Given the description of an element on the screen output the (x, y) to click on. 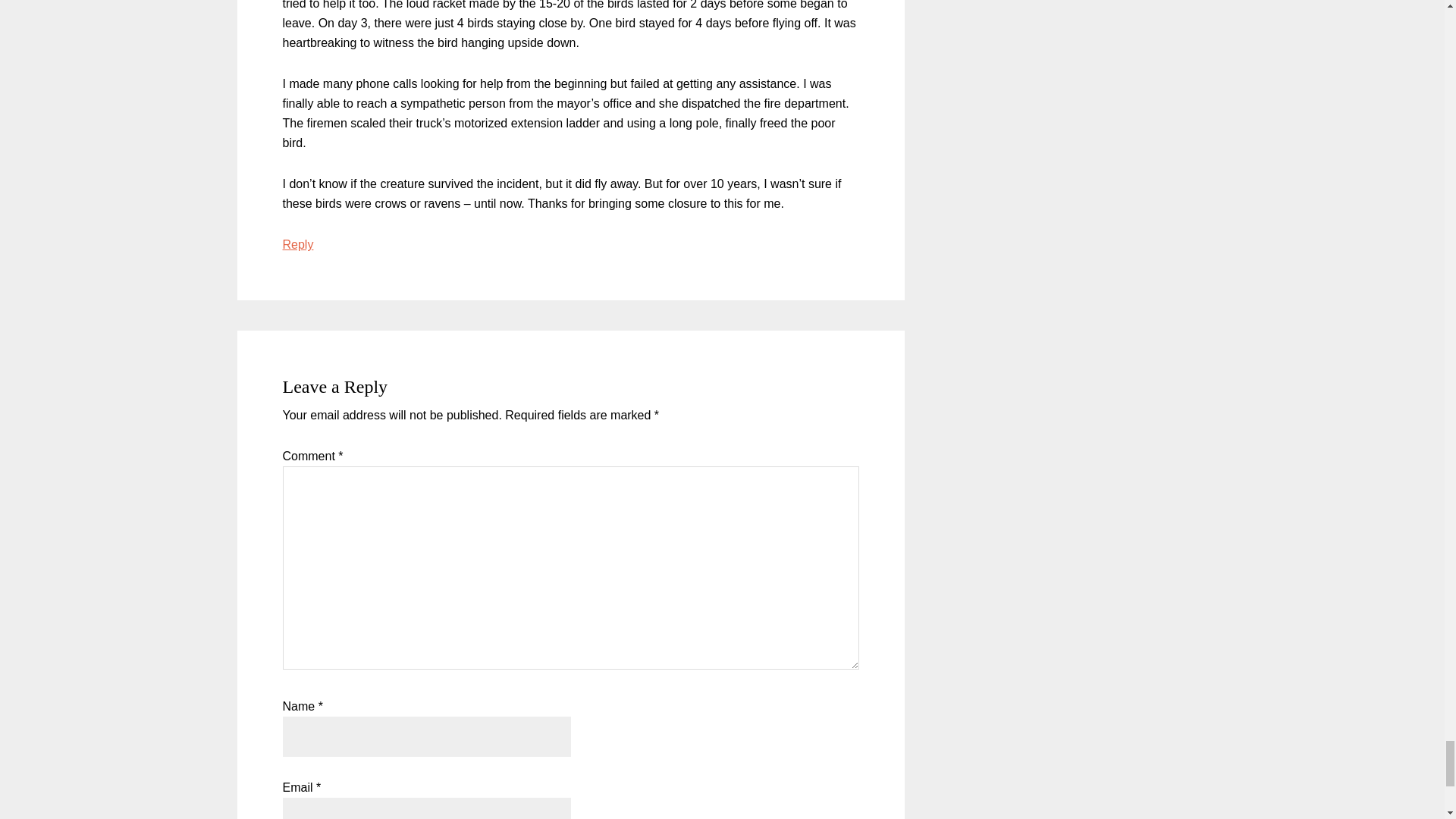
Reply (297, 244)
